Given the description of an element on the screen output the (x, y) to click on. 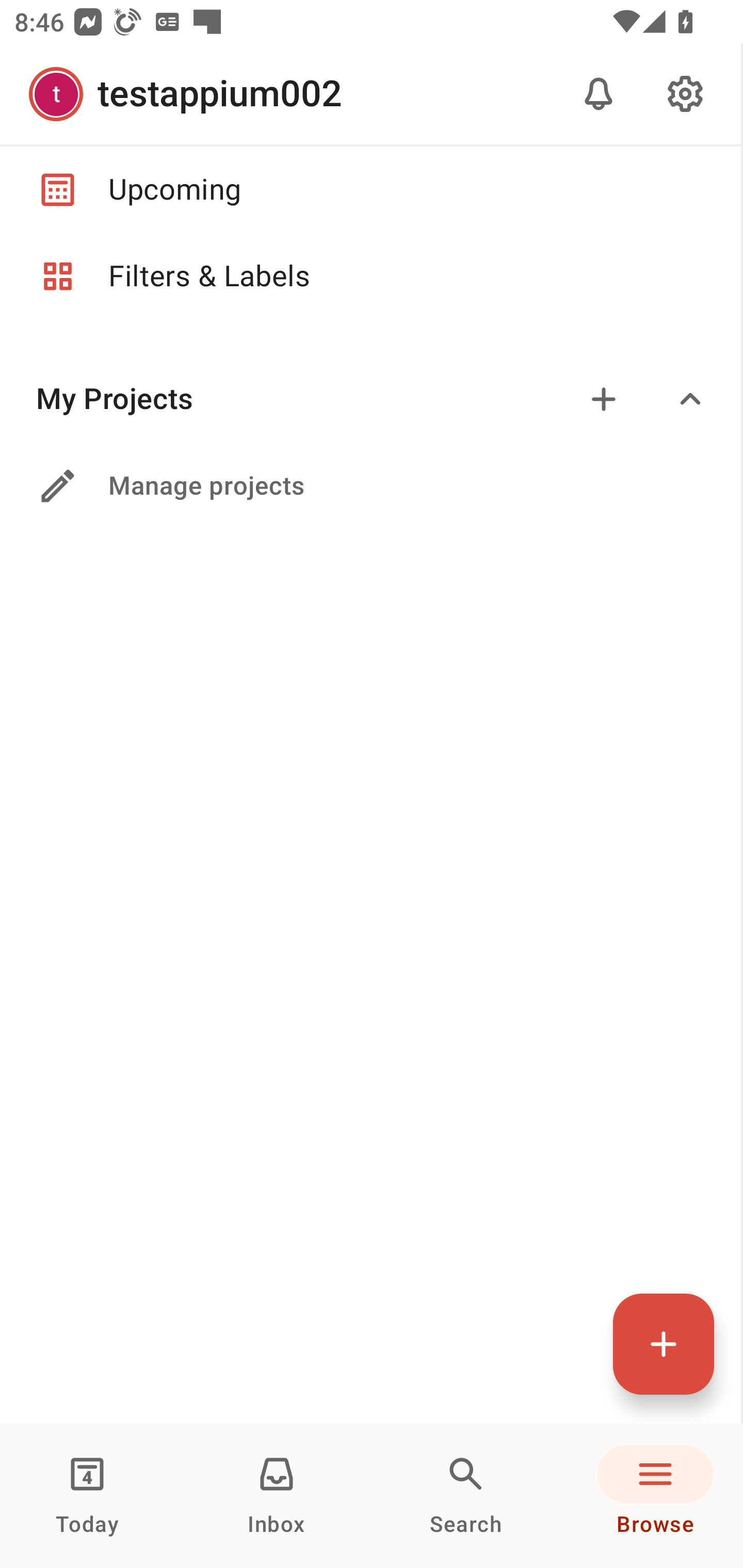
Notifications (598, 93)
Settings (684, 93)
Upcoming (370, 189)
Filters & Labels (370, 276)
My Projects Add Expand/collapse (370, 398)
Add (603, 398)
Expand/collapse (690, 398)
Manage projects (370, 485)
Quick add (663, 1343)
Today (87, 1495)
Inbox (276, 1495)
Search (465, 1495)
